Given the description of an element on the screen output the (x, y) to click on. 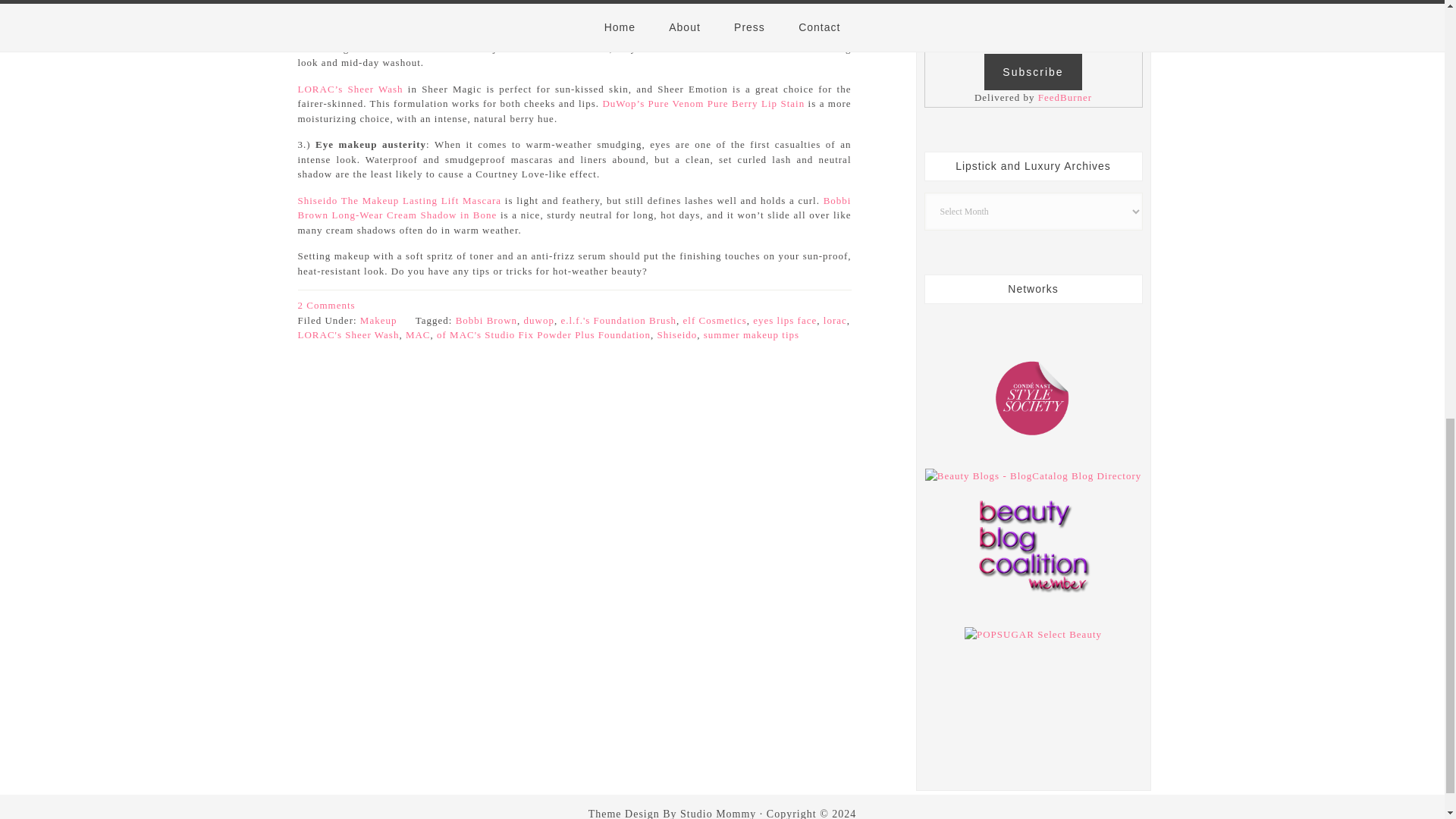
LORAC Sheer Wash (352, 89)
Subscribe (1032, 72)
DuWop's Pure Venom Pure Berry Lip Stain (703, 102)
2 Comments (326, 305)
Shiseido The Makeup Lasting Lift Mascara (398, 199)
Makeup (378, 319)
Bobbi Brown Long-Wear Cream Shadow in Bone (573, 207)
duwop (539, 319)
Beauty Blogs - BlogCatalog Blog Directory (1032, 475)
e.l.f.'s Foundation Brush (618, 319)
MAC (418, 334)
summer makeup tips (751, 334)
Shiseido The Makeup Lasting Lift Mascara (398, 199)
Bobbi Brown (485, 319)
of MAC's Studio Fix Powder Plus Foundation (543, 334)
